Given the description of an element on the screen output the (x, y) to click on. 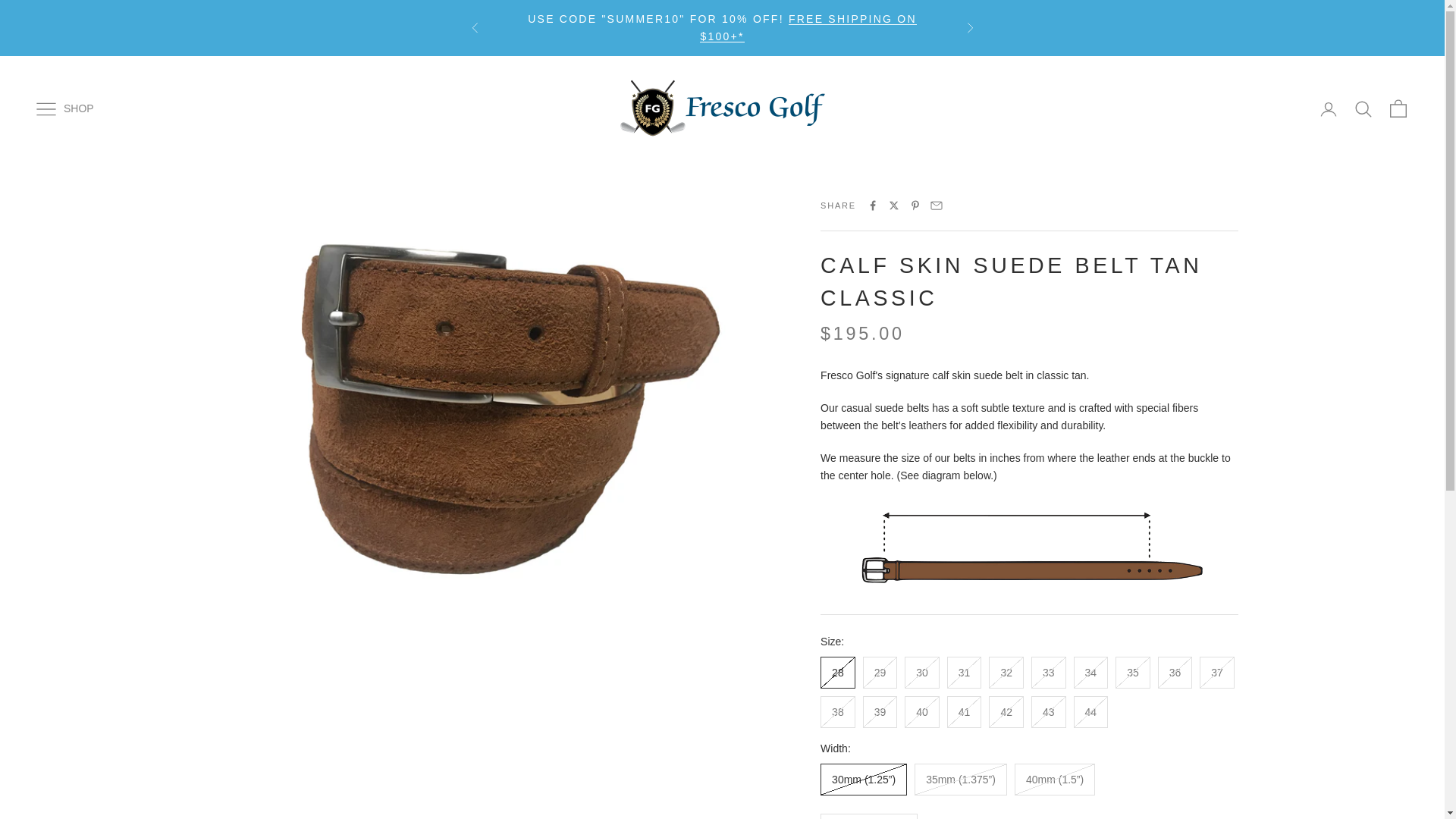
Decrease quantity (837, 816)
Decrease quantity (900, 816)
Open cart (1398, 108)
Open navigation menu (46, 108)
Fresco Golf (722, 108)
